Given the description of an element on the screen output the (x, y) to click on. 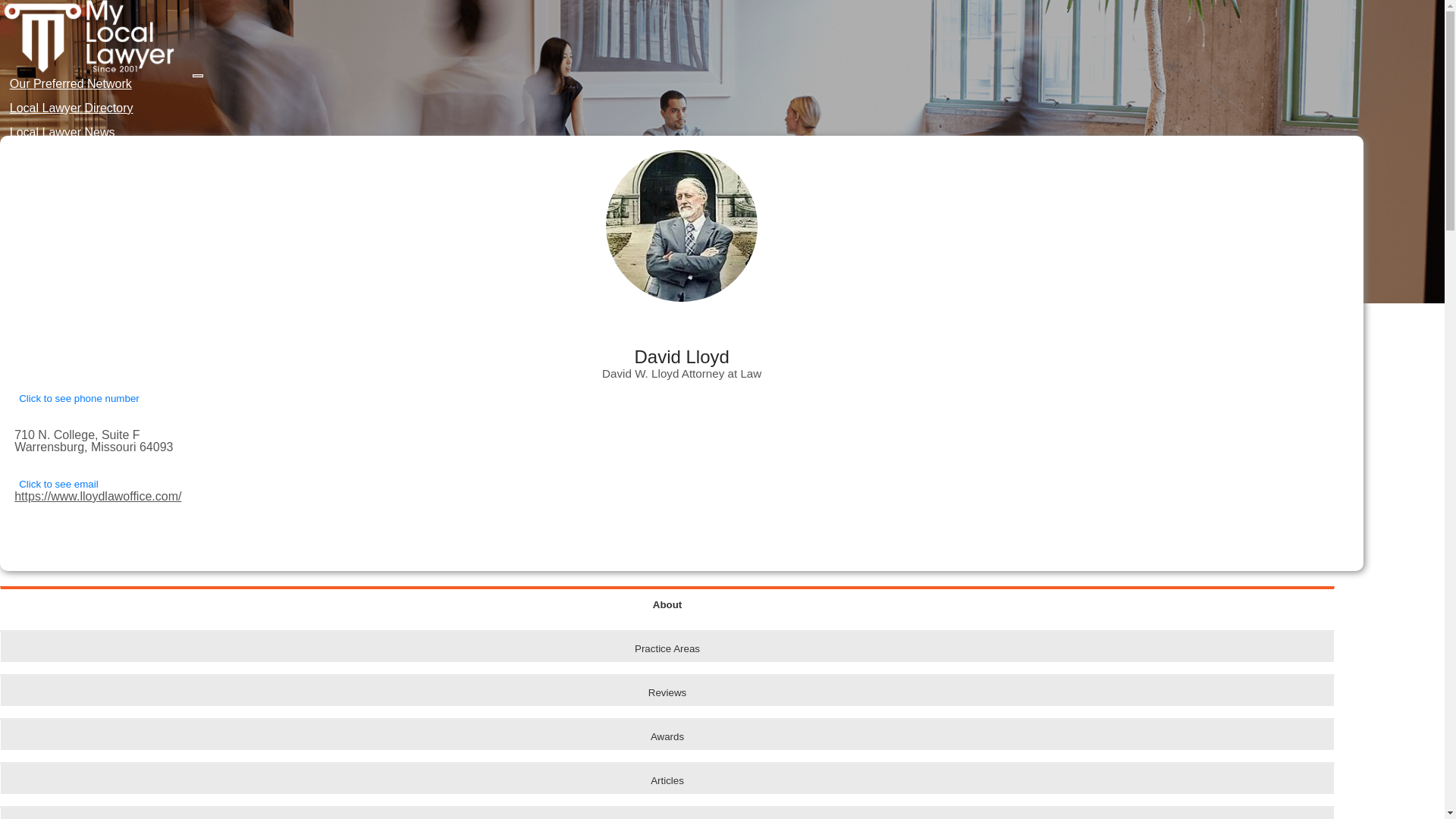
Local Lawyer Directory (71, 107)
Reviews (667, 689)
Practice Areas (667, 645)
Awards (667, 734)
Click to see email (57, 483)
Local Lawyer News (61, 132)
About (667, 602)
Free Consultation (54, 162)
Articles (667, 777)
Our Preferred Network (70, 83)
Click to see phone number (79, 398)
